Given the description of an element on the screen output the (x, y) to click on. 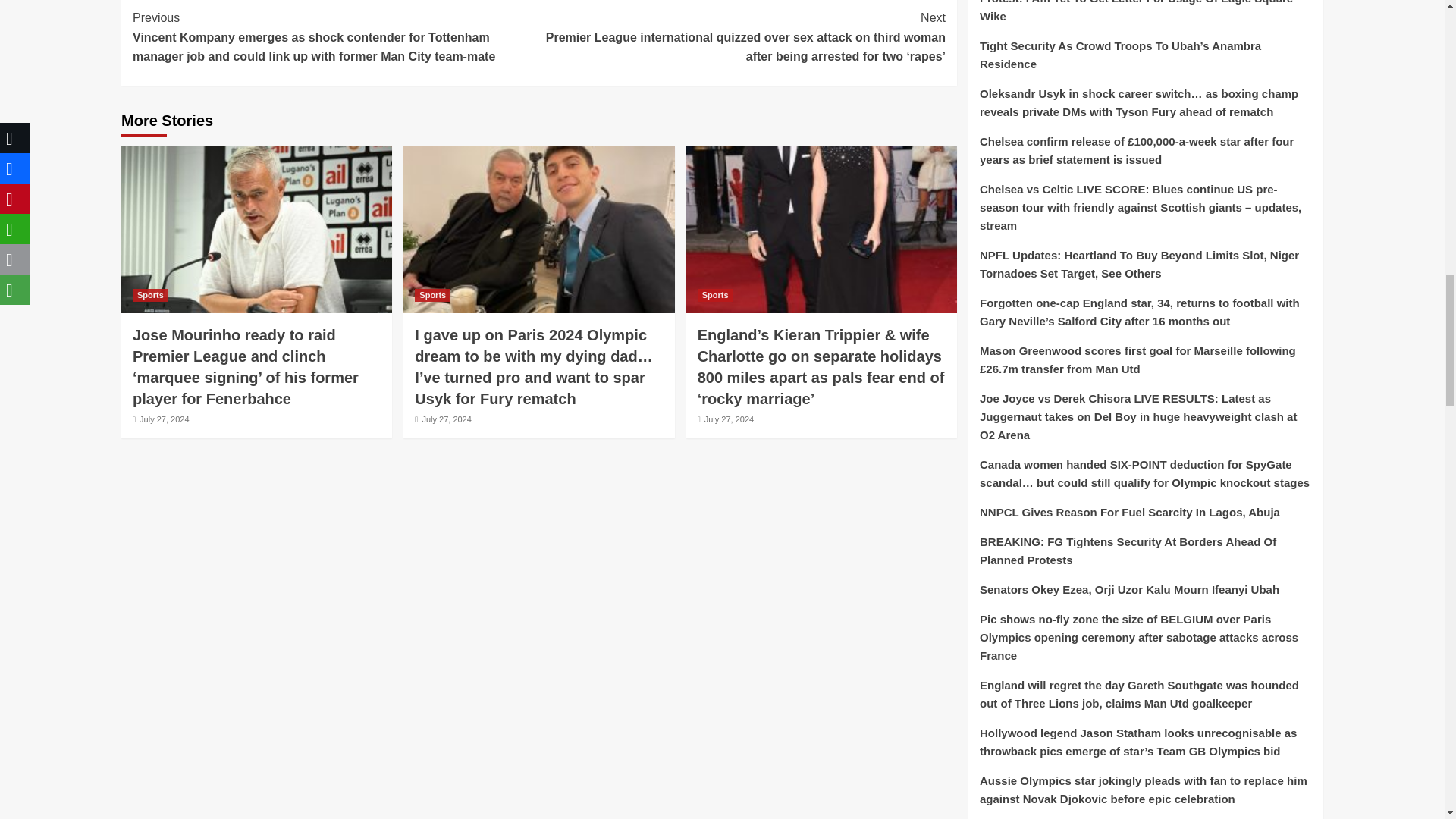
Sports (431, 295)
July 27, 2024 (164, 419)
Sports (150, 295)
